Given the description of an element on the screen output the (x, y) to click on. 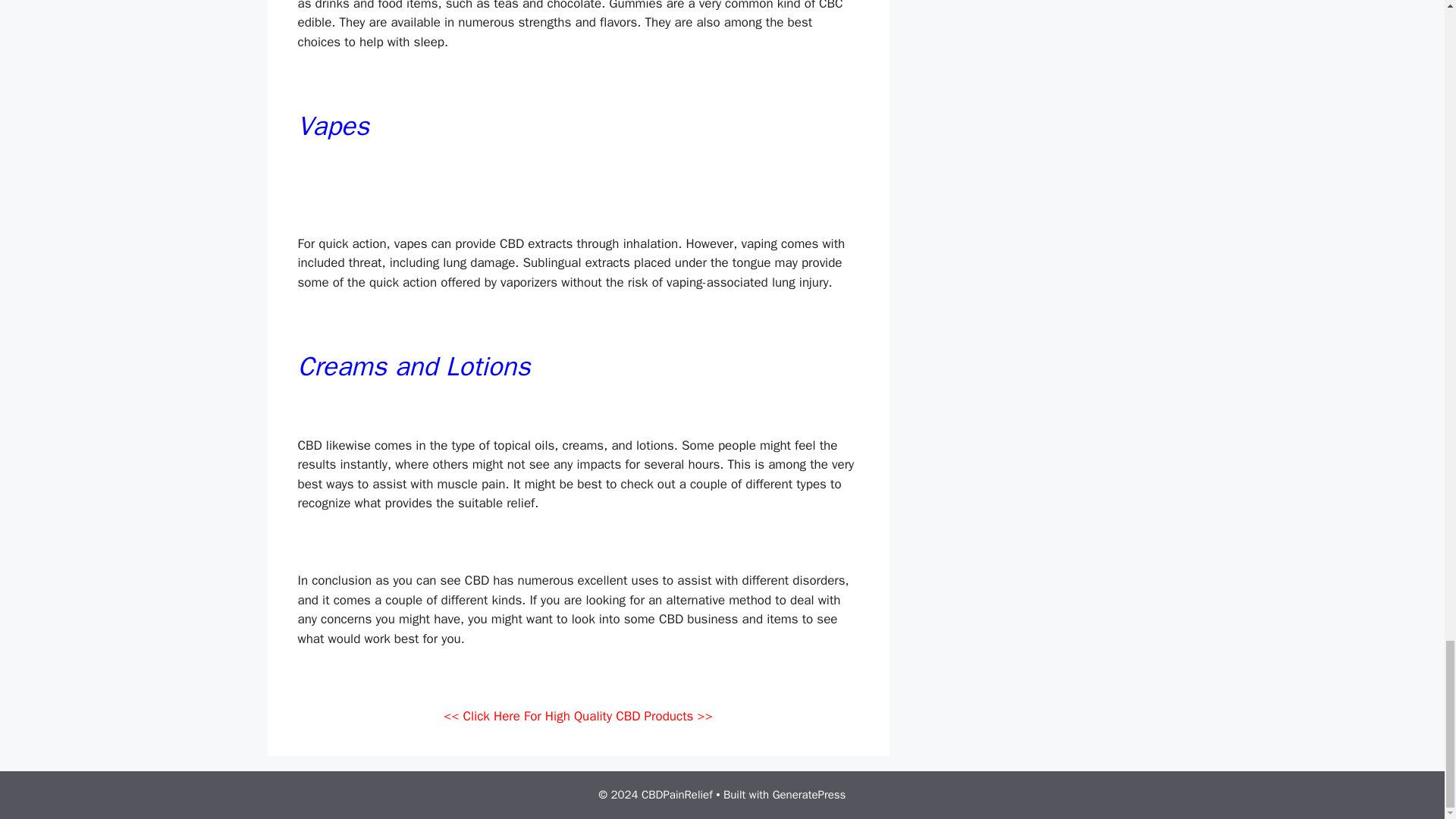
GeneratePress (809, 794)
